Given the description of an element on the screen output the (x, y) to click on. 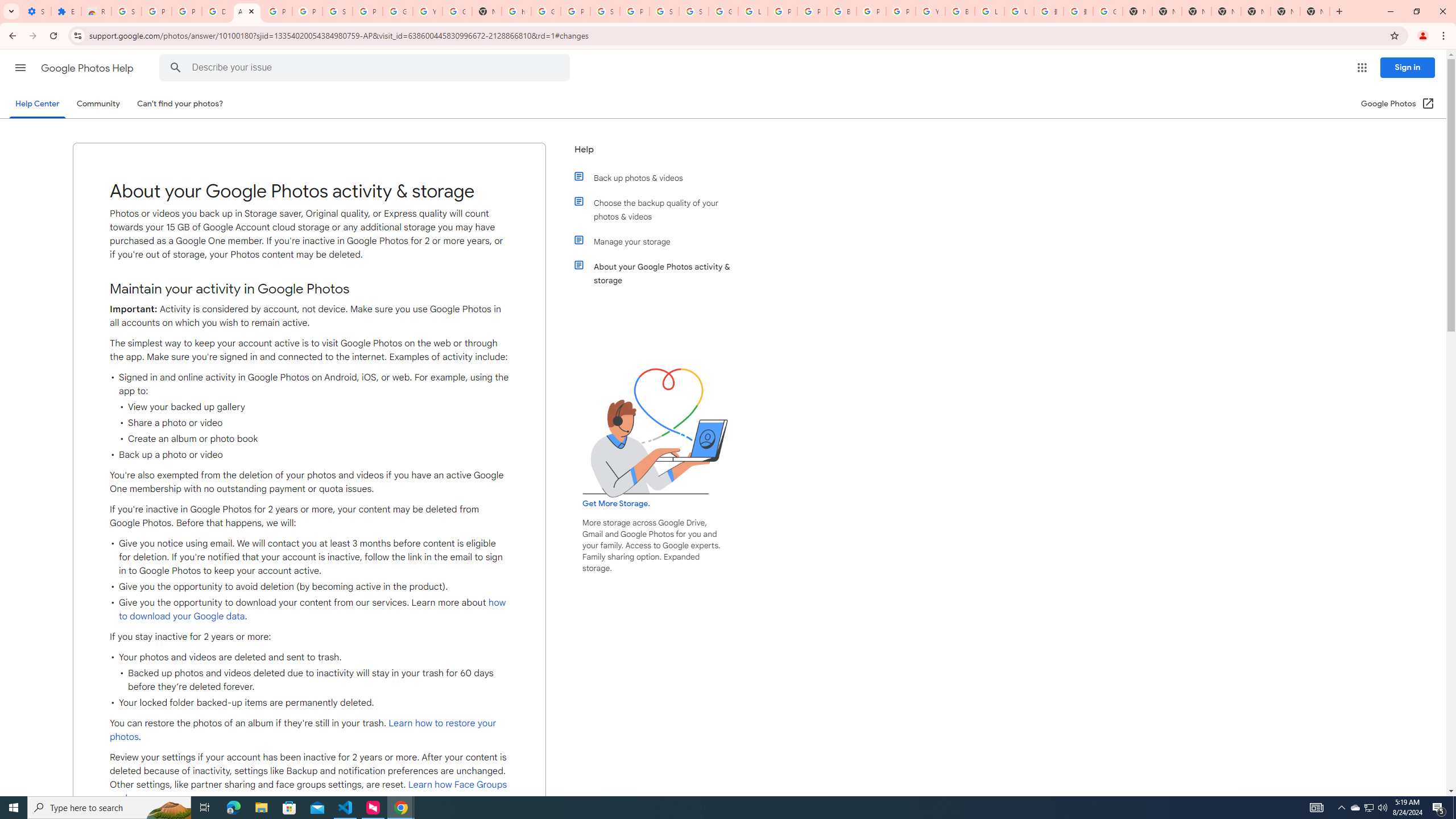
New Tab (1314, 11)
Google Account (397, 11)
Learn how Face Groups works (307, 791)
Privacy Help Center - Policies Help (811, 11)
Describe your issue (366, 67)
Privacy Help Center - Policies Help (782, 11)
Sign in - Google Accounts (126, 11)
